Given the description of an element on the screen output the (x, y) to click on. 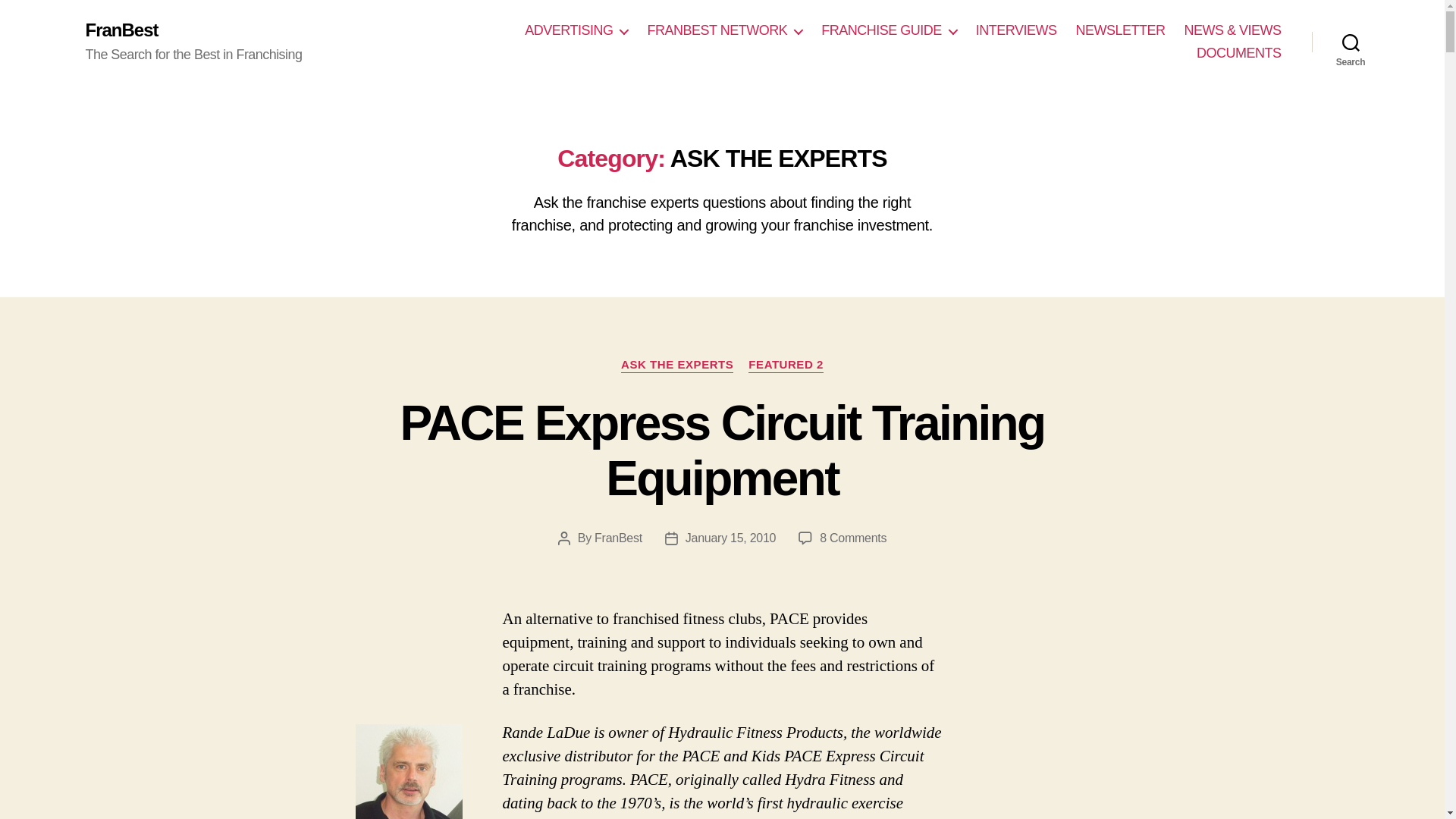
FranBest (120, 30)
FRANBEST NETWORK (724, 30)
Rande 141 (409, 771)
ADVERTISING (575, 30)
